Given the description of an element on the screen output the (x, y) to click on. 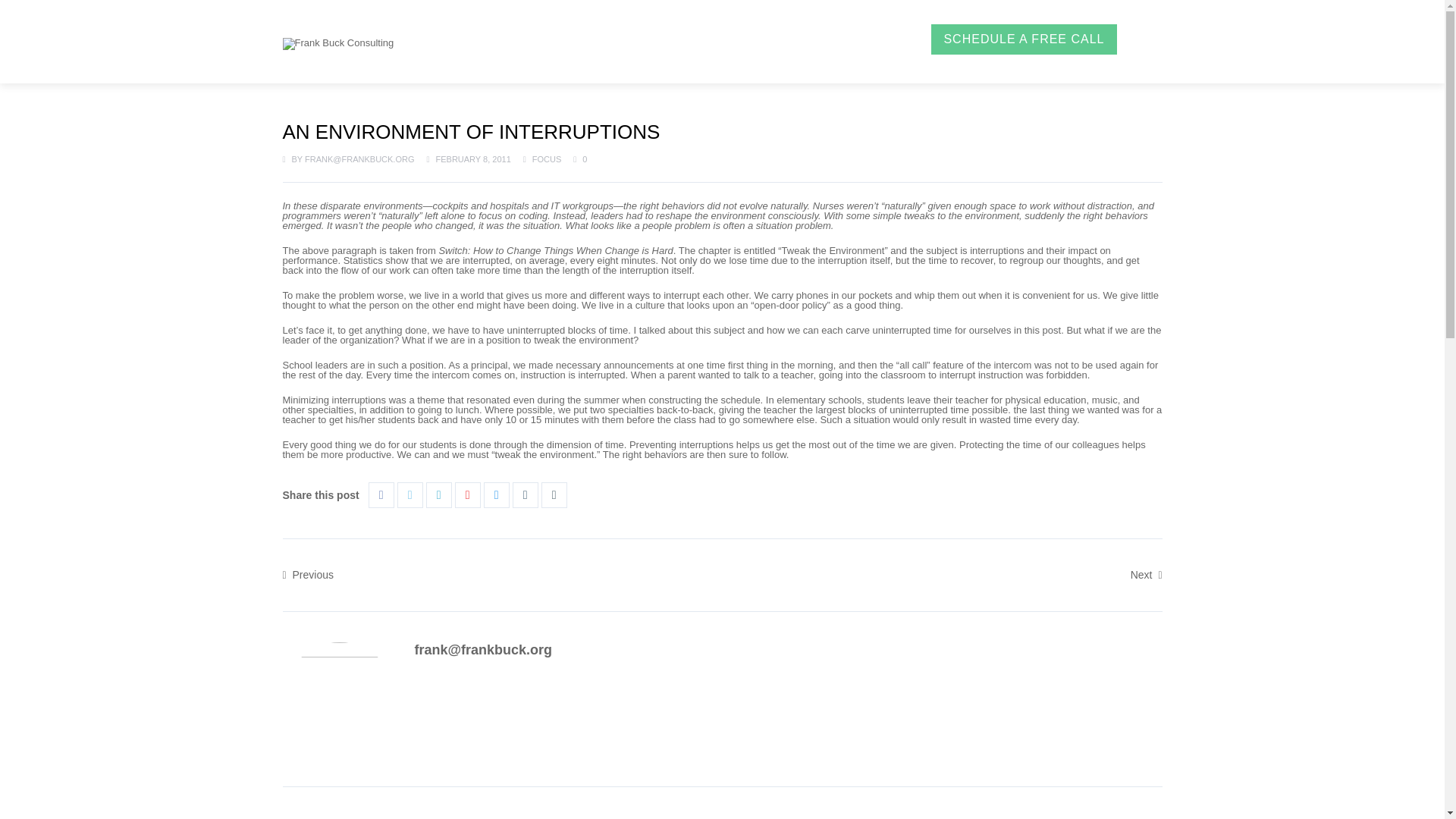
in this post (1037, 329)
Next (1146, 573)
Contact Us (872, 39)
About (568, 39)
Previous (307, 573)
0 (579, 158)
Home (507, 39)
Services (639, 39)
View all posts in Focus (547, 158)
Frank Buck Consulting (337, 43)
